Given the description of an element on the screen output the (x, y) to click on. 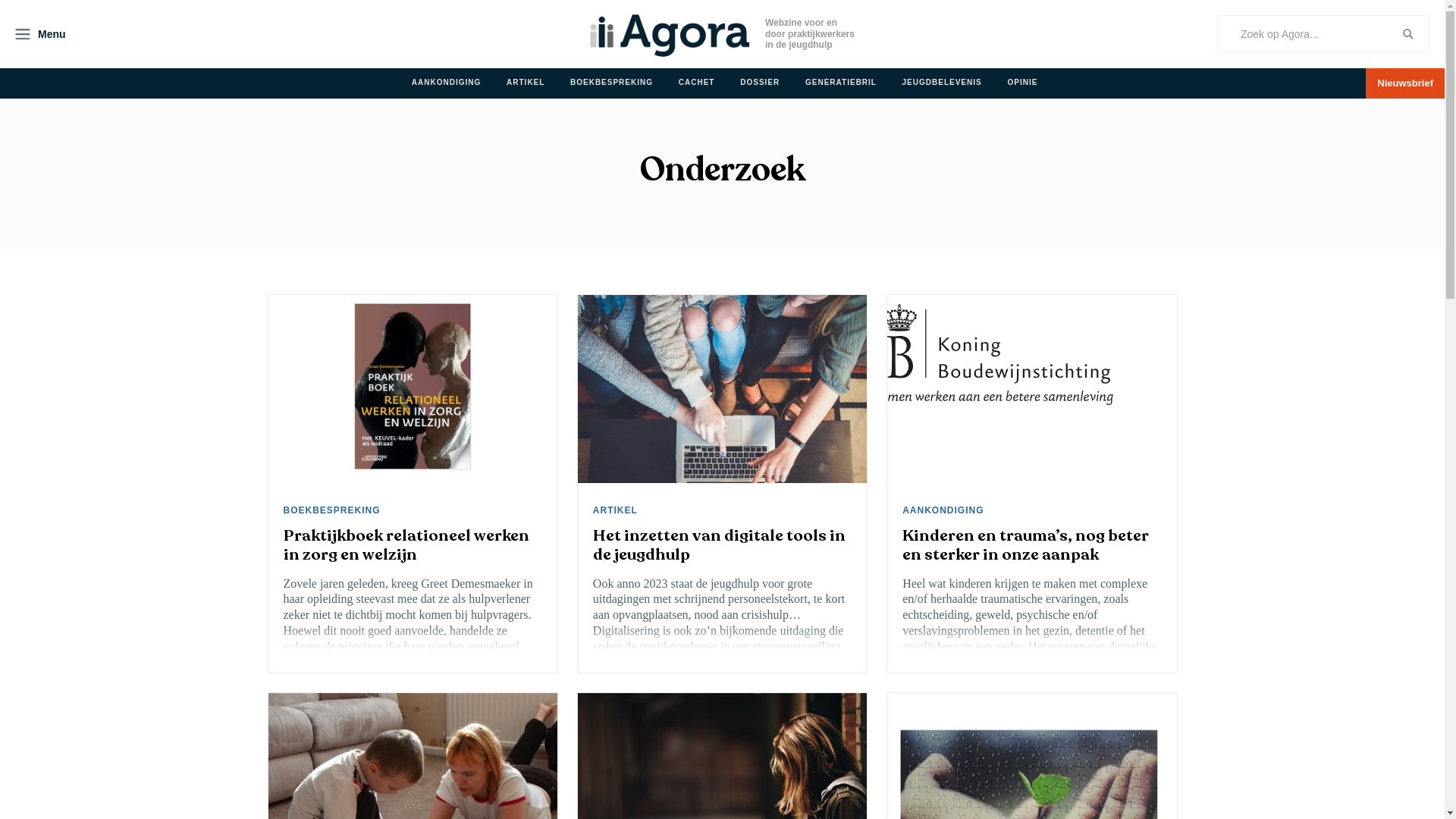
BOEKBESPREKING Element type: text (612, 83)
DOSSIER Element type: text (760, 83)
BOEKBESPREKING Element type: text (333, 509)
CACHET Element type: text (697, 83)
ARTIKEL Element type: text (526, 83)
JEUGDBELEVENIS Element type: text (943, 83)
AANKONDIGING Element type: text (447, 83)
AANKONDIGING Element type: text (944, 509)
Praktijkboek relationeel werken in zorg en welzijn Element type: text (412, 545)
ARTIKEL Element type: text (616, 509)
Het inzetten van digitale tools in de jeugdhulp Element type: text (722, 545)
GENERATIEBRIL Element type: text (842, 83)
OPINIE Element type: text (1023, 83)
